Given the description of an element on the screen output the (x, y) to click on. 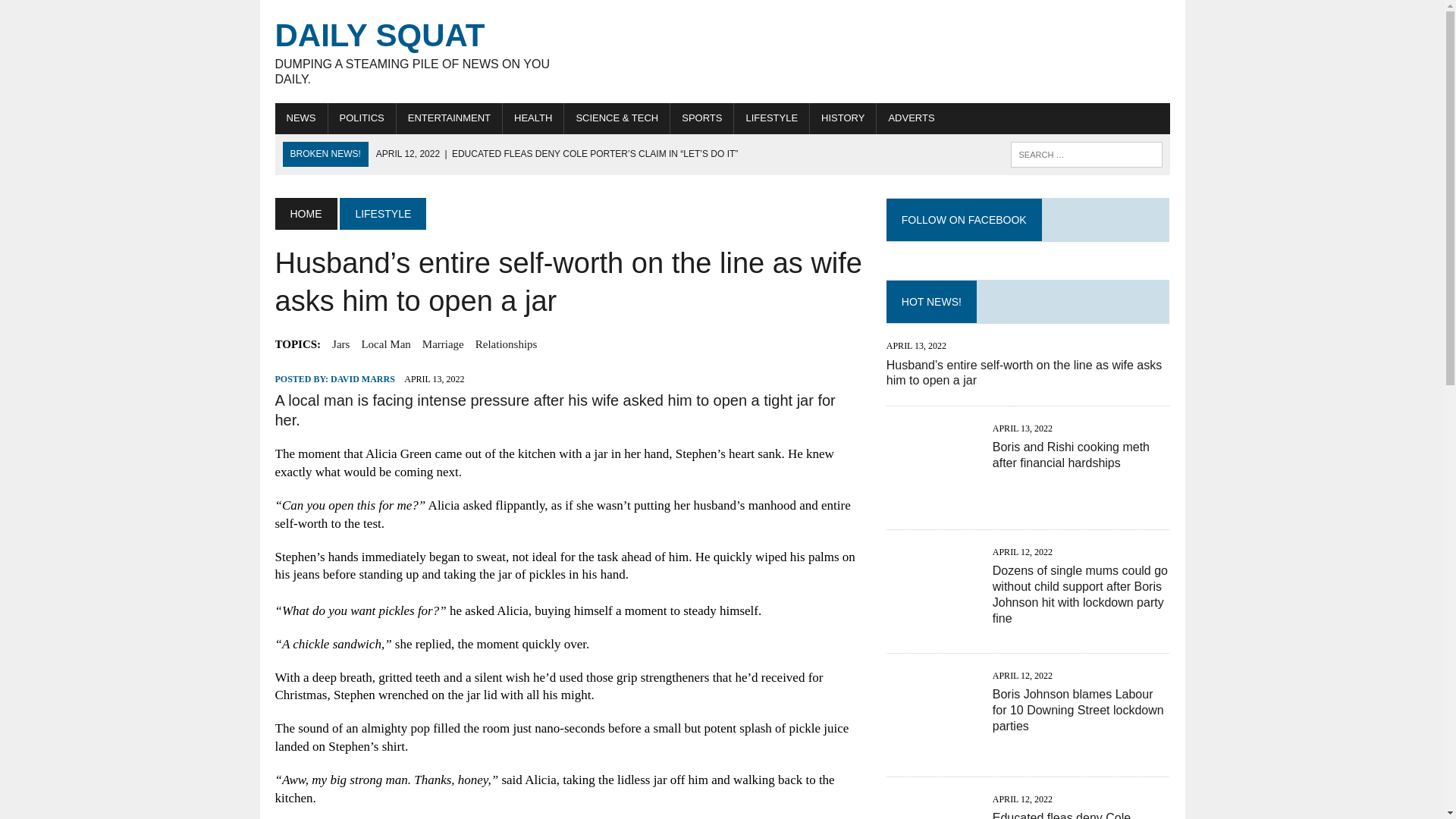
Local Man (416, 51)
HOME (385, 343)
Daily Squat (305, 214)
HISTORY (416, 51)
POLITICS (842, 118)
Jars (360, 118)
Search (340, 343)
NEWS (75, 14)
HEALTH (300, 118)
